Given the description of an element on the screen output the (x, y) to click on. 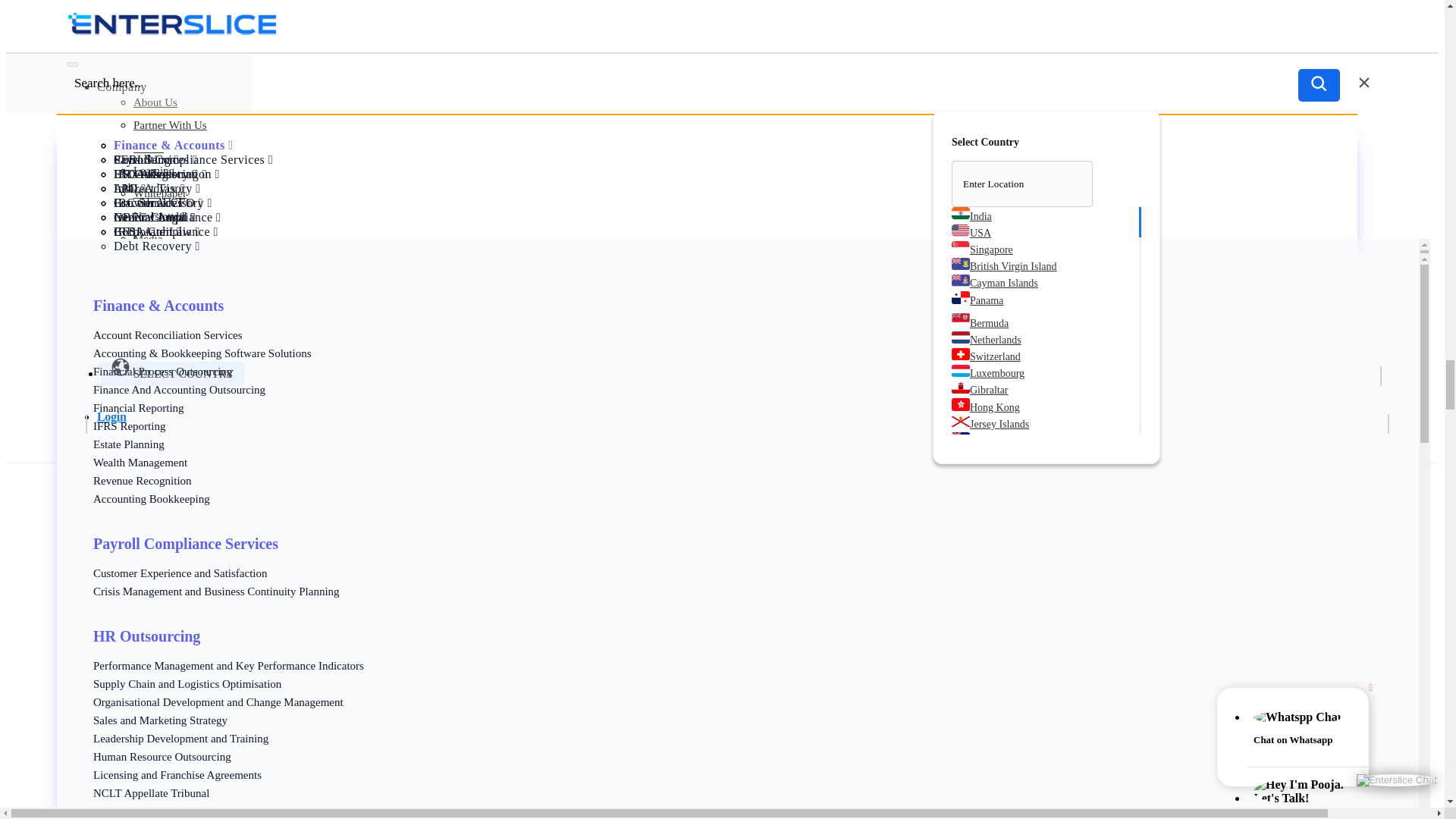
marg (84, 666)
justdial (90, 680)
Herbal Life Nutrition (124, 735)
Acme Solar (101, 775)
fia global (95, 694)
davinta (90, 707)
milton (88, 721)
Razorpay (95, 762)
First Cry (94, 789)
spiinny (90, 653)
